Given the description of an element on the screen output the (x, y) to click on. 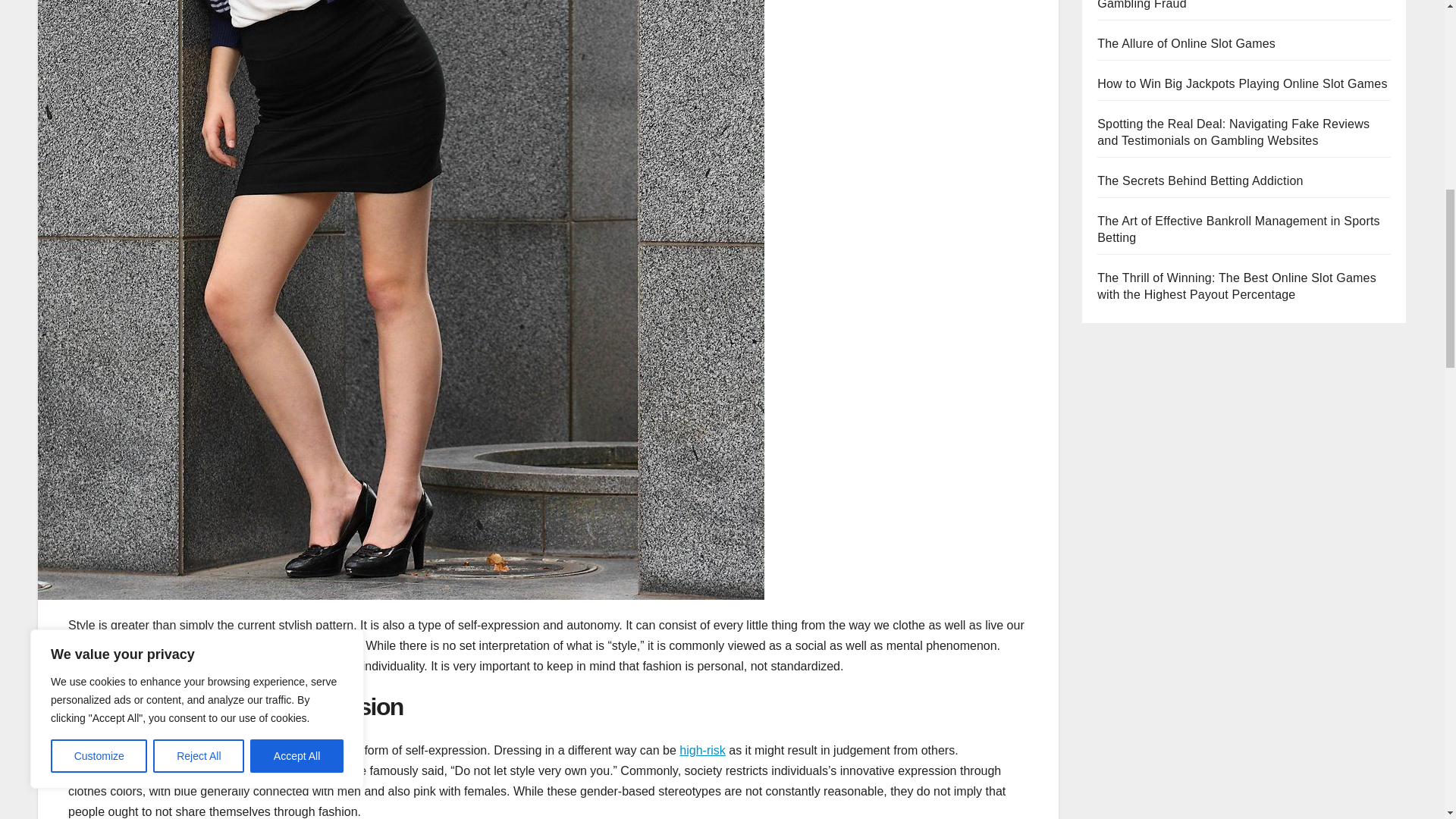
high-risk (702, 749)
